Given the description of an element on the screen output the (x, y) to click on. 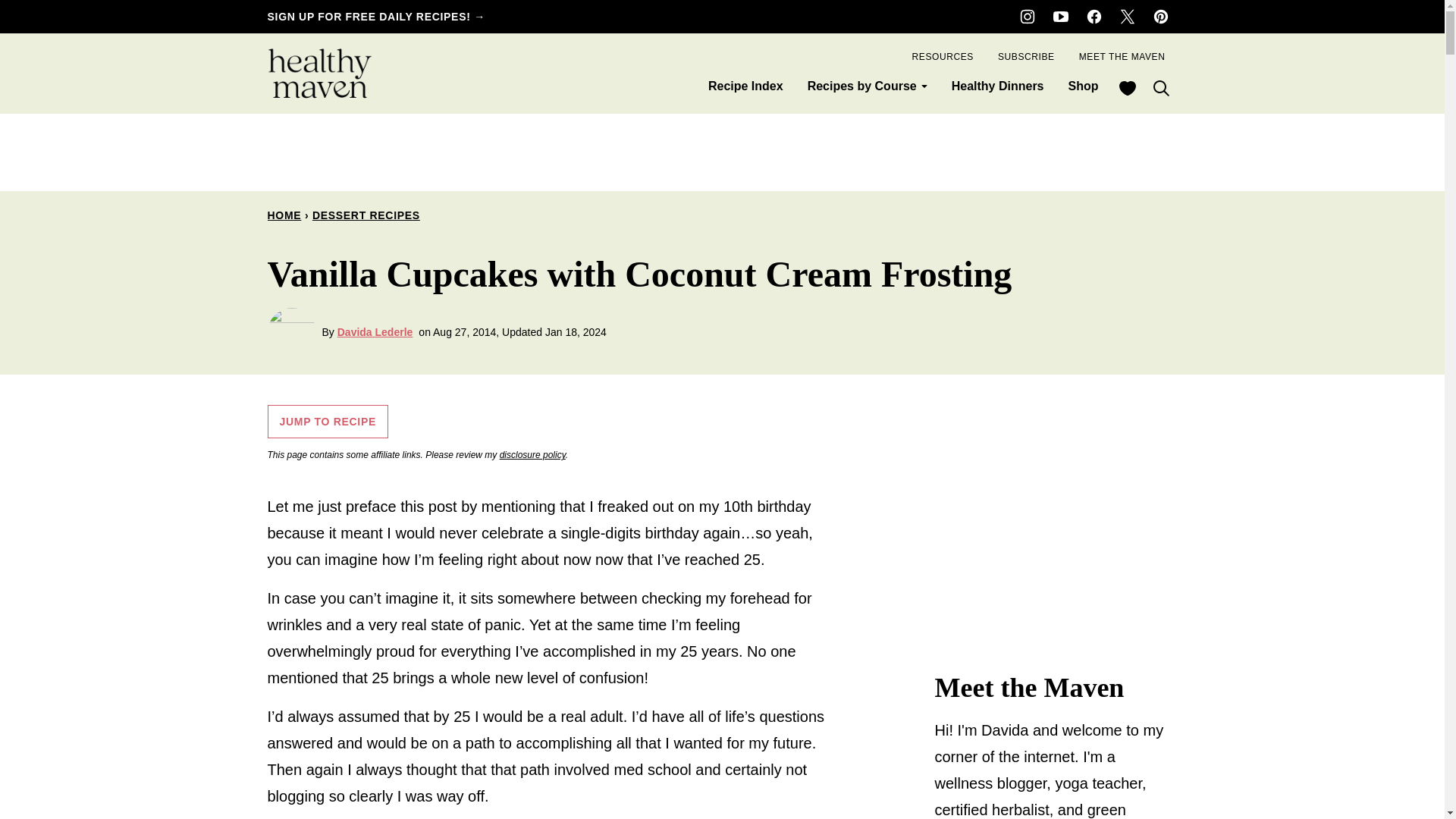
Recipes by Course (866, 86)
MEET THE MAVEN (1122, 56)
SUBSCRIBE (1026, 56)
JUMP TO RECIPE (327, 421)
HOME (283, 215)
DESSERT RECIPES (366, 215)
Shop (1082, 86)
Recipe Index (744, 86)
Davida Lederle (375, 331)
My Favorites (1125, 87)
